Given the description of an element on the screen output the (x, y) to click on. 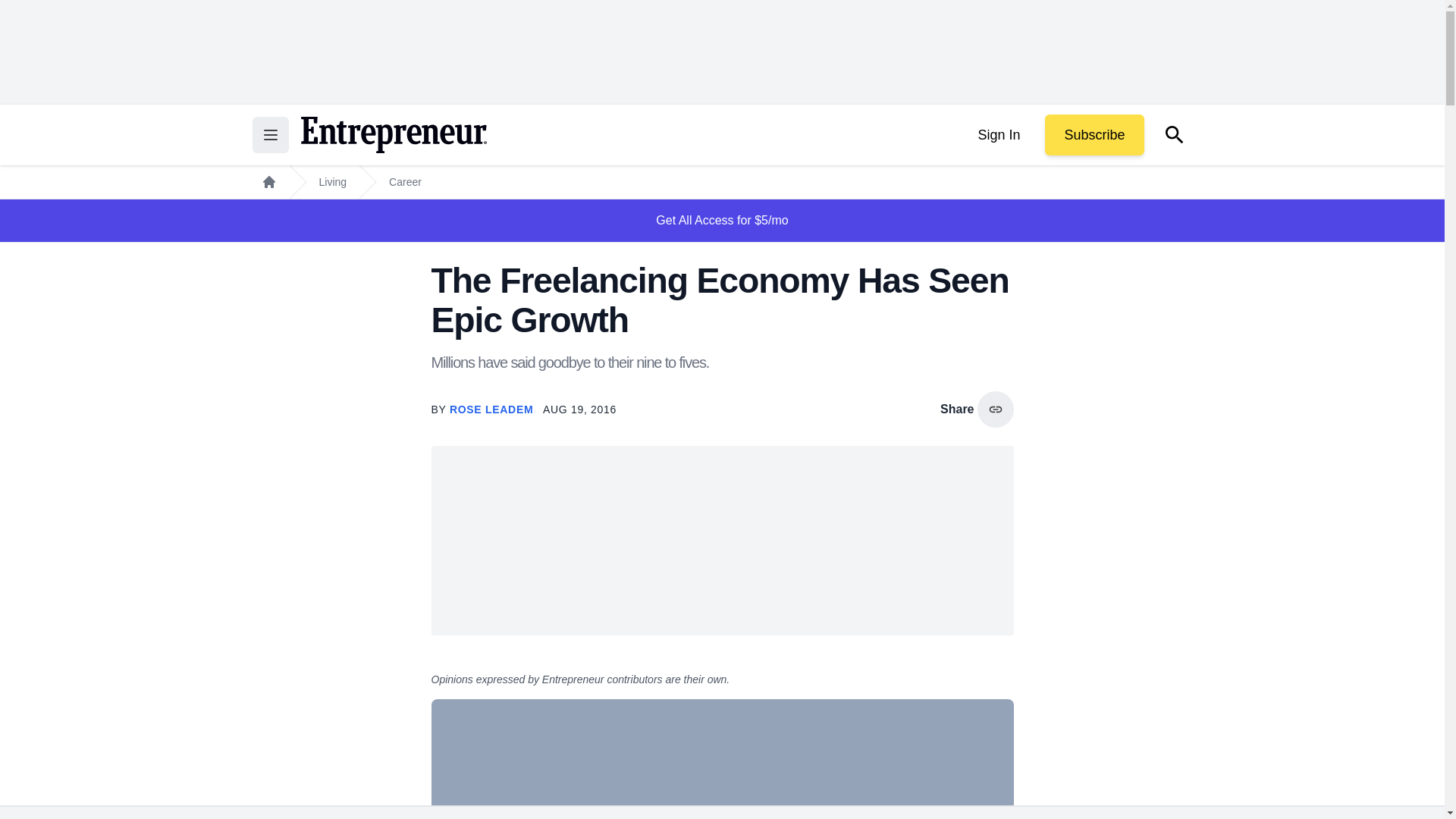
Subscribe (1093, 134)
Return to the home page (392, 135)
copy (994, 409)
Sign In (998, 134)
